Given the description of an element on the screen output the (x, y) to click on. 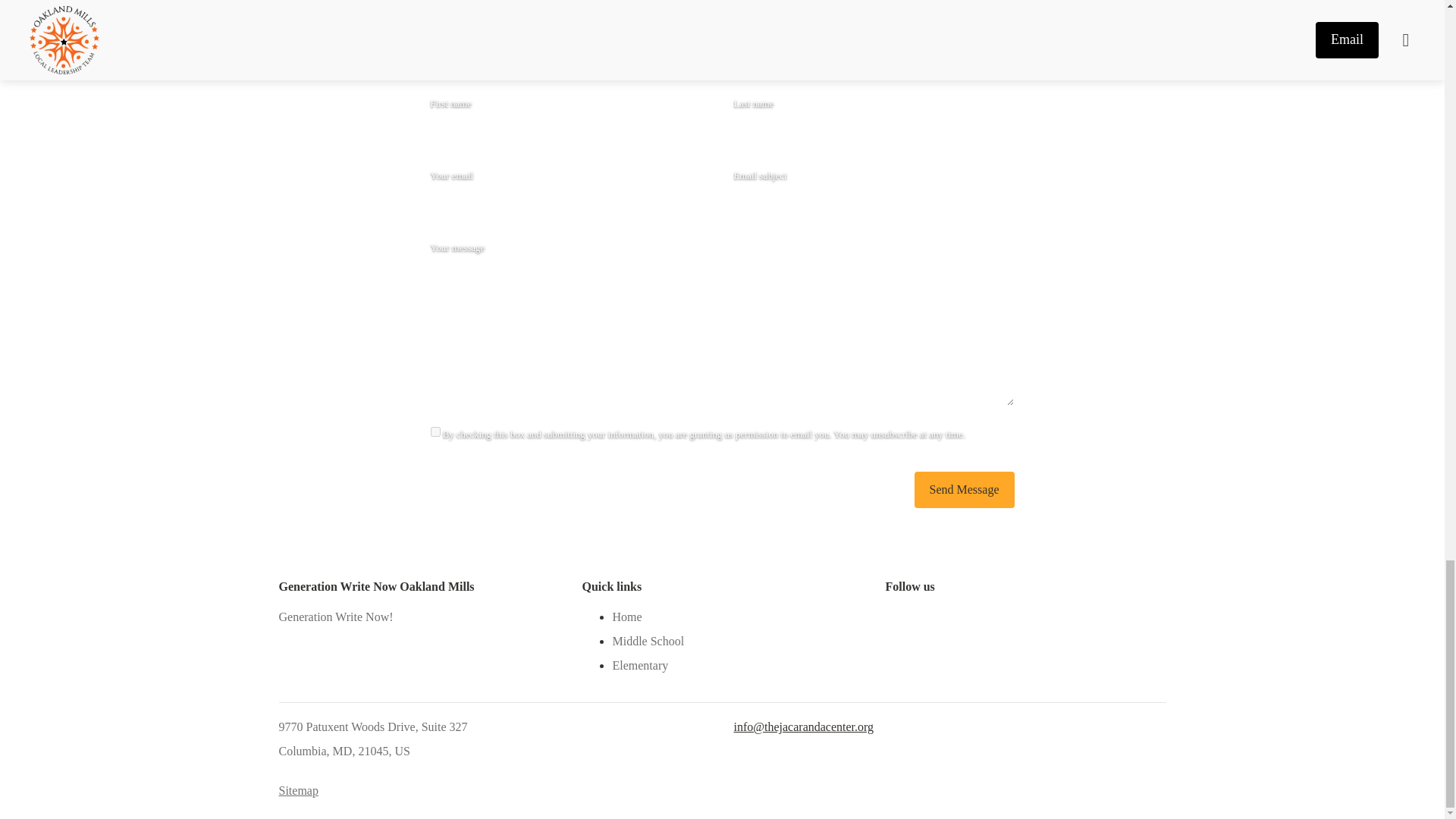
Middle School (647, 641)
Send Message (964, 489)
Elementary (639, 665)
Home (626, 617)
Sitemap (298, 791)
false (435, 431)
